Given the description of an element on the screen output the (x, y) to click on. 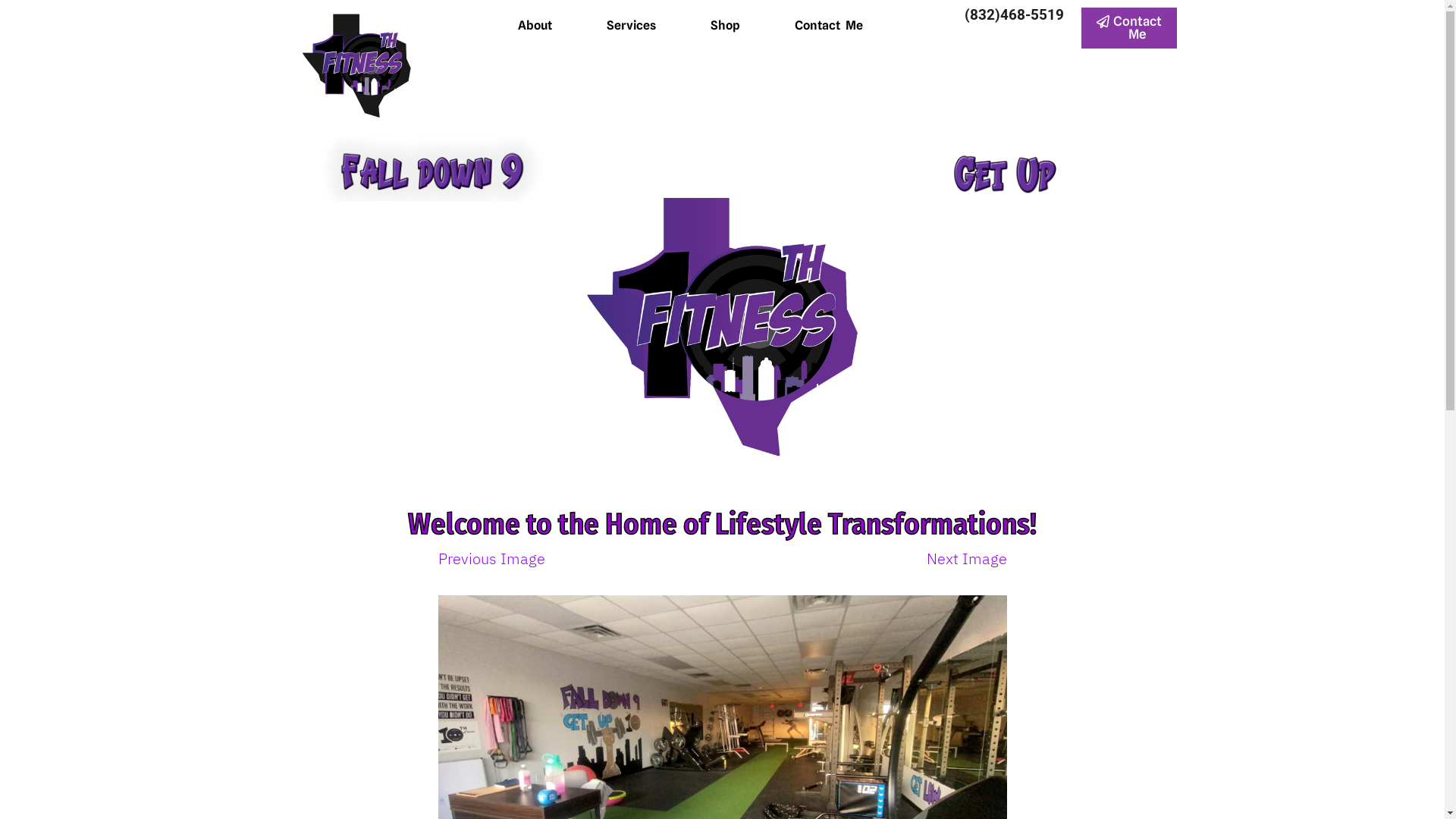
About Element type: text (534, 25)
Contact Me Element type: text (1128, 27)
Previous Image Element type: text (491, 558)
Contact Me Element type: text (828, 25)
(832)468-5519 Element type: text (1013, 14)
Services Element type: text (631, 25)
Shop Element type: text (725, 25)
Next Image Element type: text (966, 558)
